Given the description of an element on the screen output the (x, y) to click on. 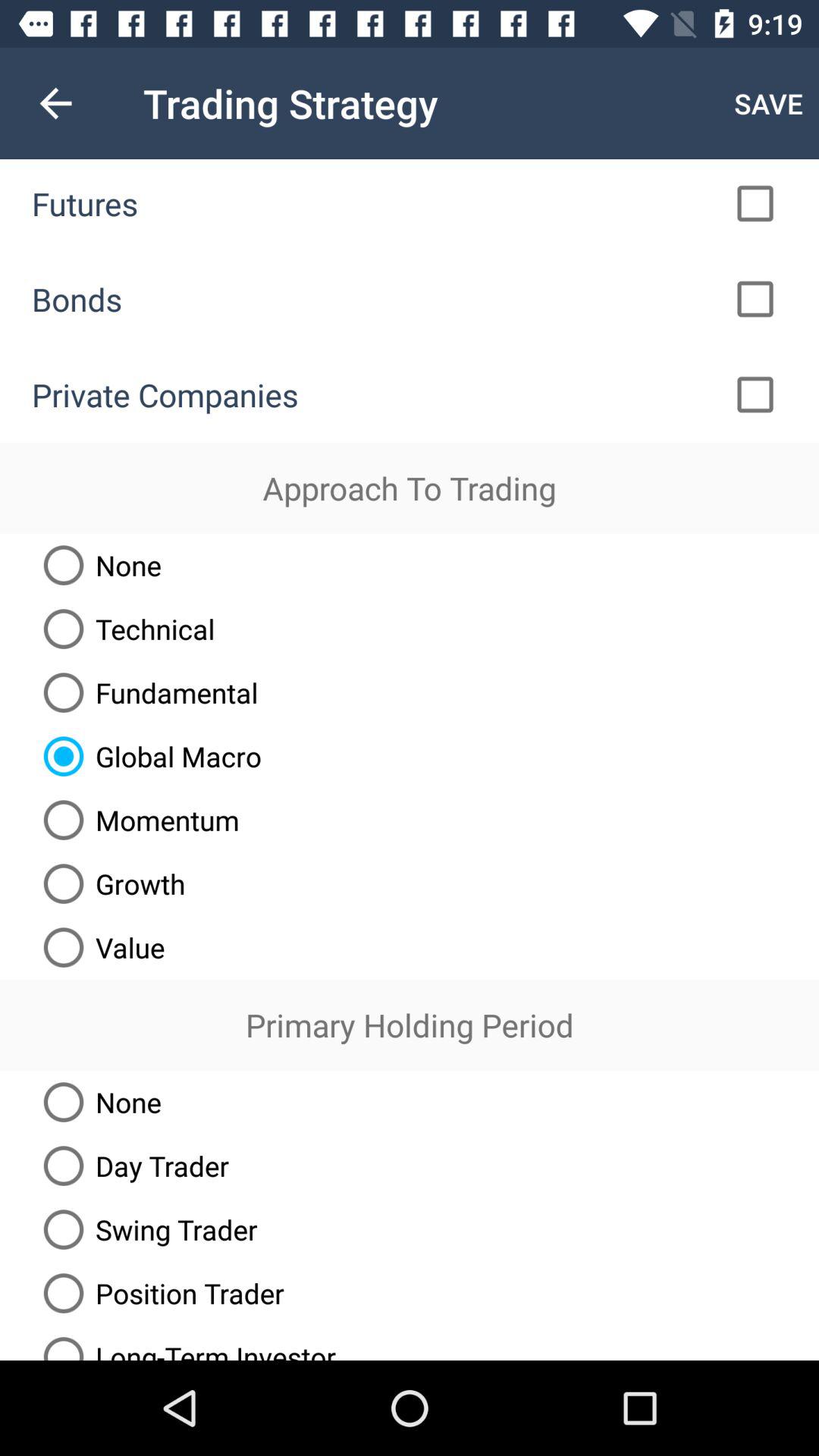
launch the momentum icon (135, 819)
